Given the description of an element on the screen output the (x, y) to click on. 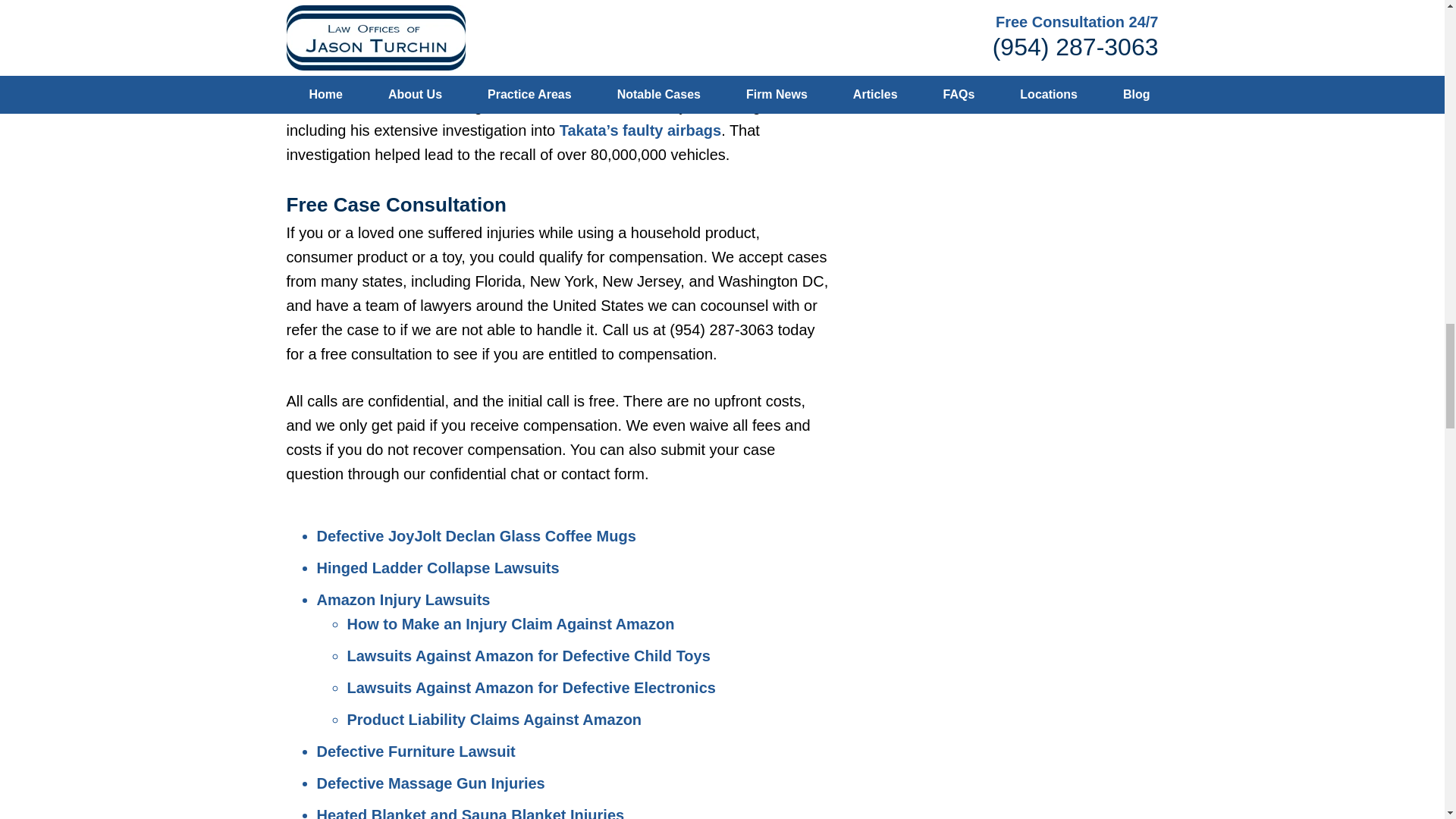
Lawsuits Against Amazon for Defective Child Toys (528, 655)
Defective JoyJolt Declan Glass Coffee Mugs (476, 535)
Heated Blanket and Sauna Blanket Injuries (470, 812)
Hinged Ladder Collapse Lawsuits (438, 567)
How to Make an Injury Claim Against Amazon (511, 623)
Defective Massage Gun Injuries (430, 782)
Product Liability Claims Against Amazon (494, 719)
Amazon Injury Lawsuits (403, 599)
Lawsuits Against Amazon for Defective Electronics (531, 687)
Defective Furniture Lawsuit (416, 751)
